Given the description of an element on the screen output the (x, y) to click on. 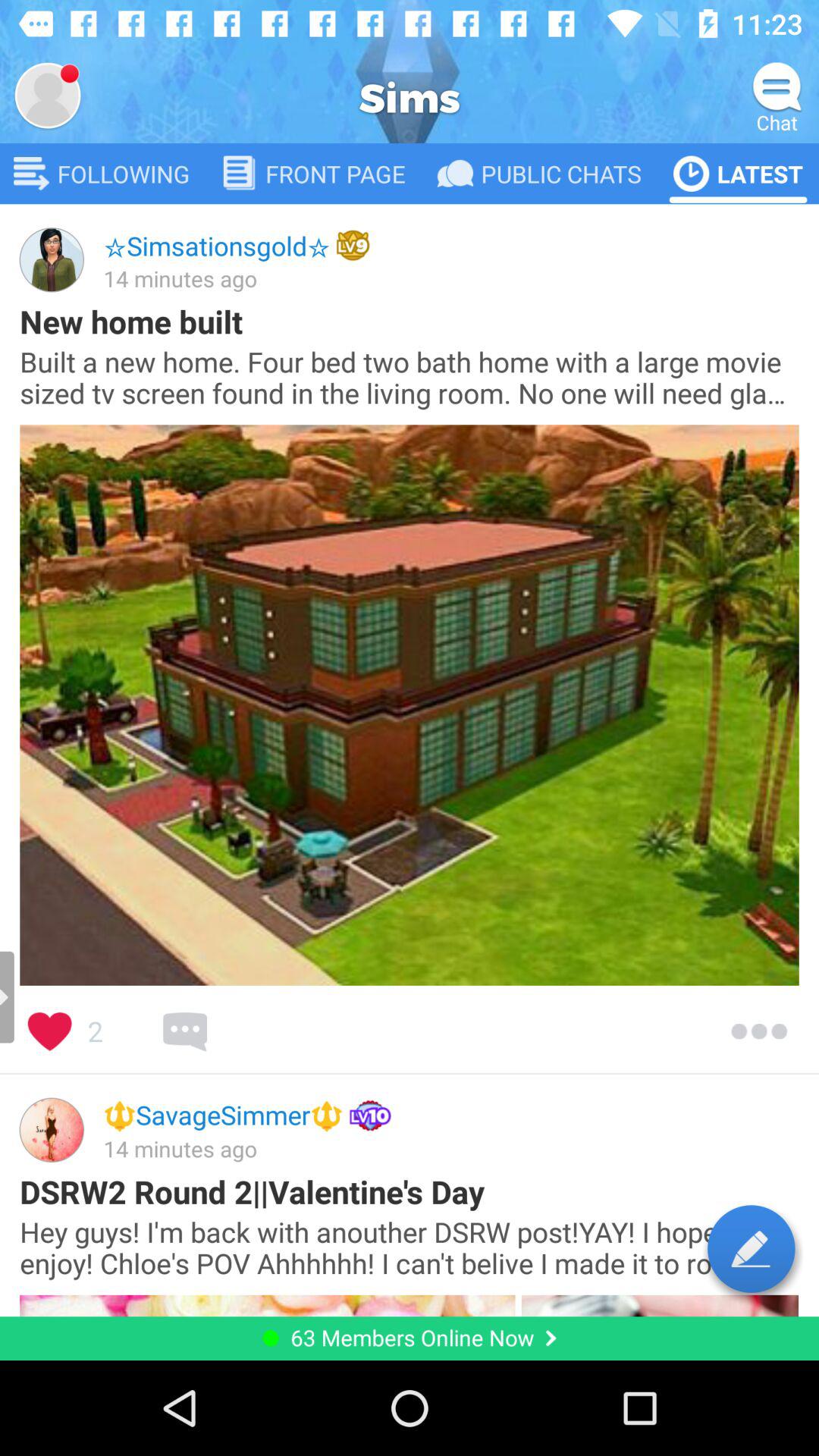
access profile (47, 95)
